Given the description of an element on the screen output the (x, y) to click on. 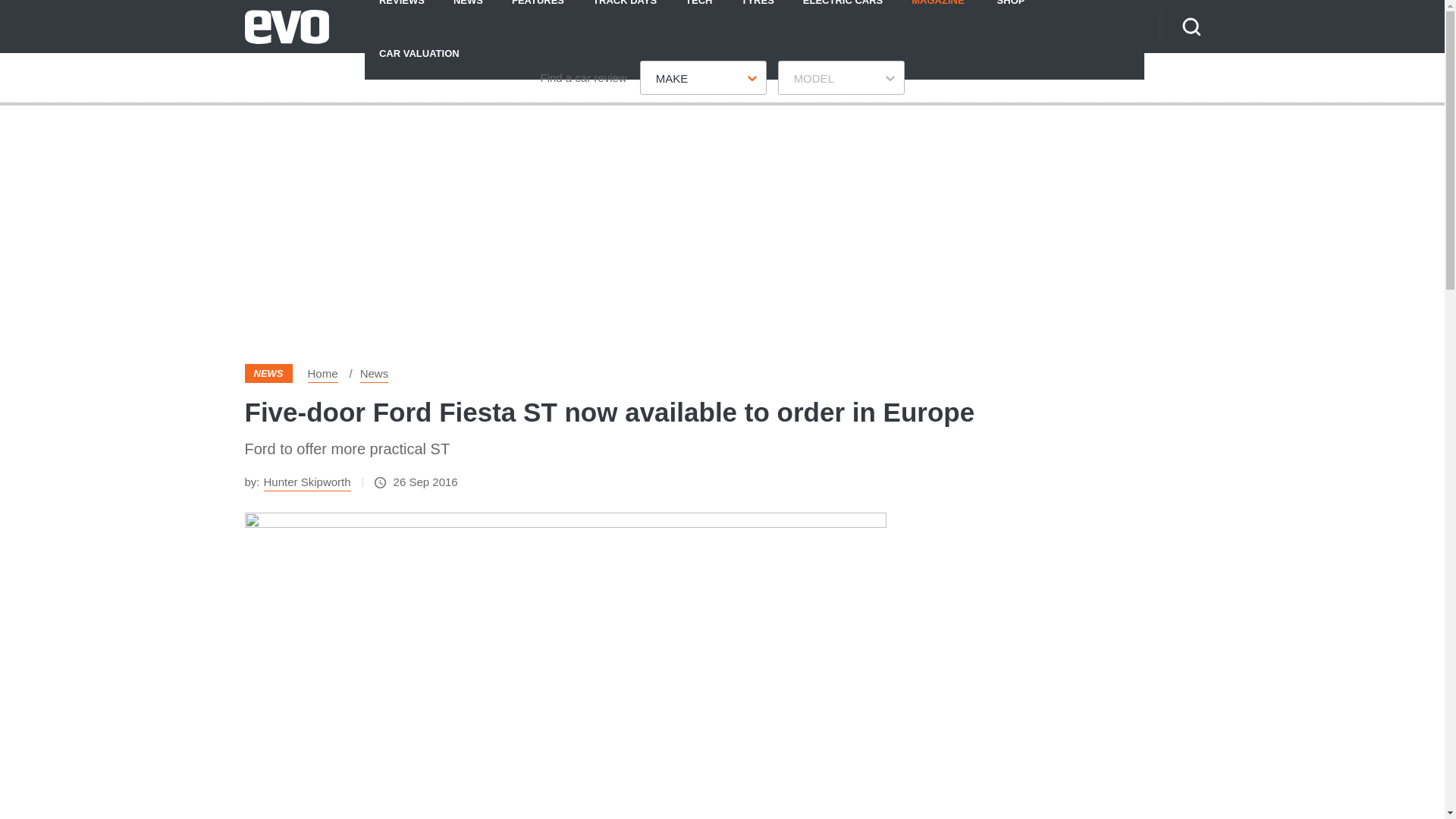
CAR VALUATION (419, 52)
ELECTRIC CARS (842, 13)
FEATURES (537, 13)
TYRES (756, 13)
NEWS (468, 13)
Search (1189, 26)
TRACK DAYS (624, 13)
SHOP (1010, 13)
MAGAZINE (937, 13)
REVIEWS (402, 13)
